Given the description of an element on the screen output the (x, y) to click on. 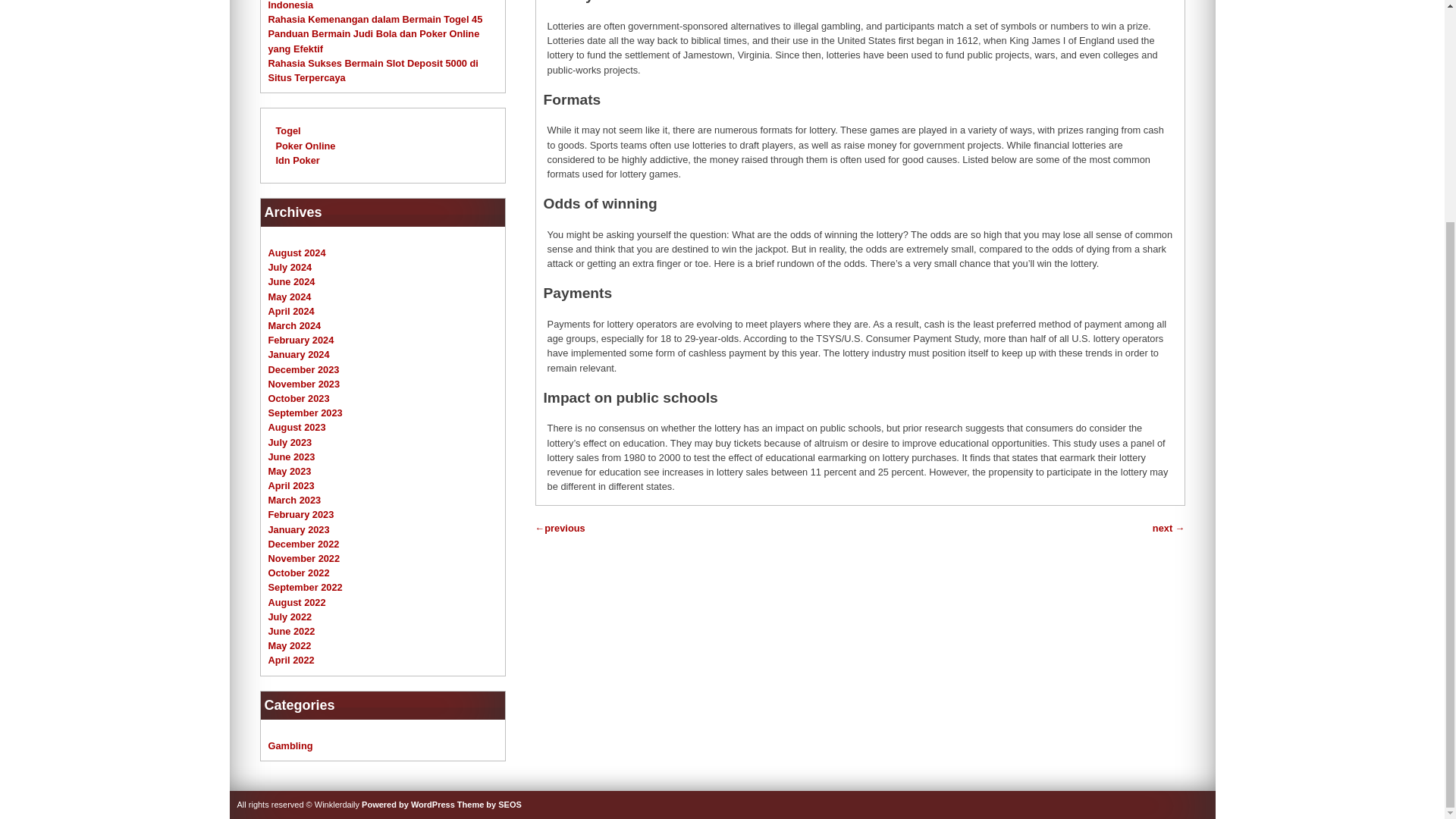
May 2023 (289, 471)
November 2022 (303, 558)
Idn Poker (298, 160)
January 2024 (298, 354)
August 2024 (296, 252)
Togel (288, 130)
February 2024 (300, 339)
August 2023 (296, 427)
December 2022 (303, 543)
February 2023 (300, 514)
